Given the description of an element on the screen output the (x, y) to click on. 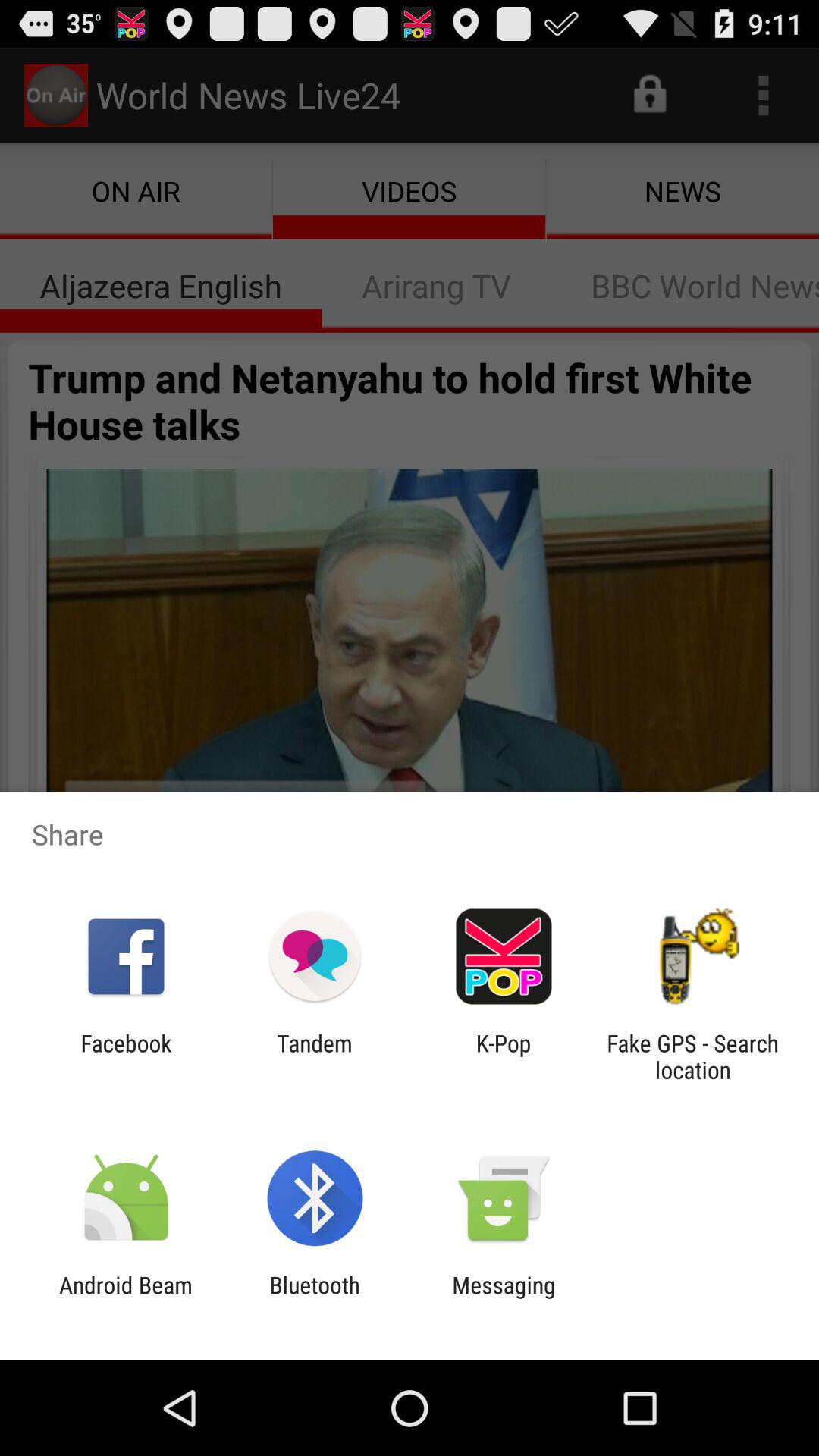
swipe until facebook app (125, 1056)
